Given the description of an element on the screen output the (x, y) to click on. 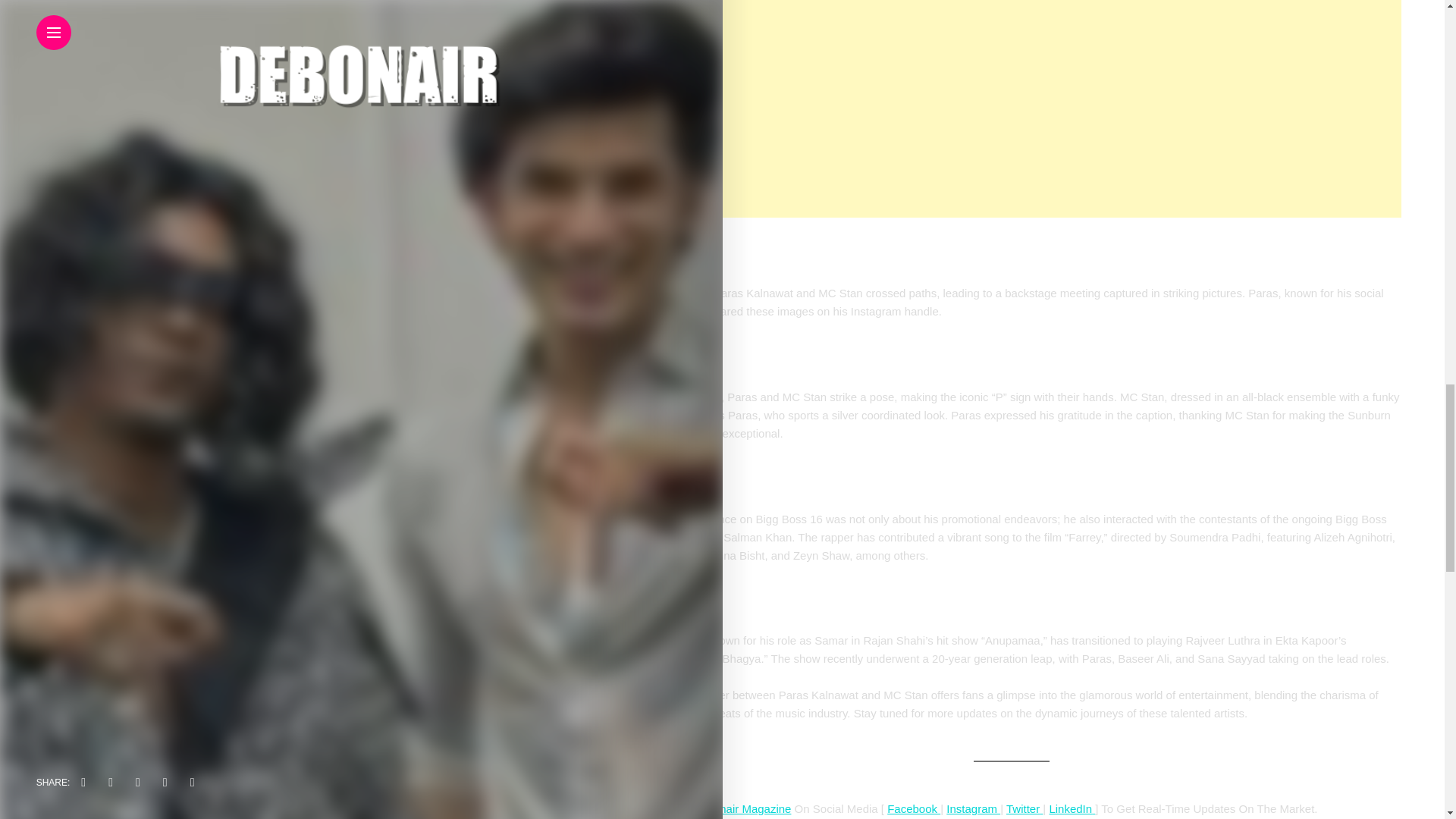
Facebook  (913, 808)
Twitter (1022, 808)
Instagram  (973, 808)
LinkedIn (1070, 808)
Debonair Magazine (741, 808)
